Given the description of an element on the screen output the (x, y) to click on. 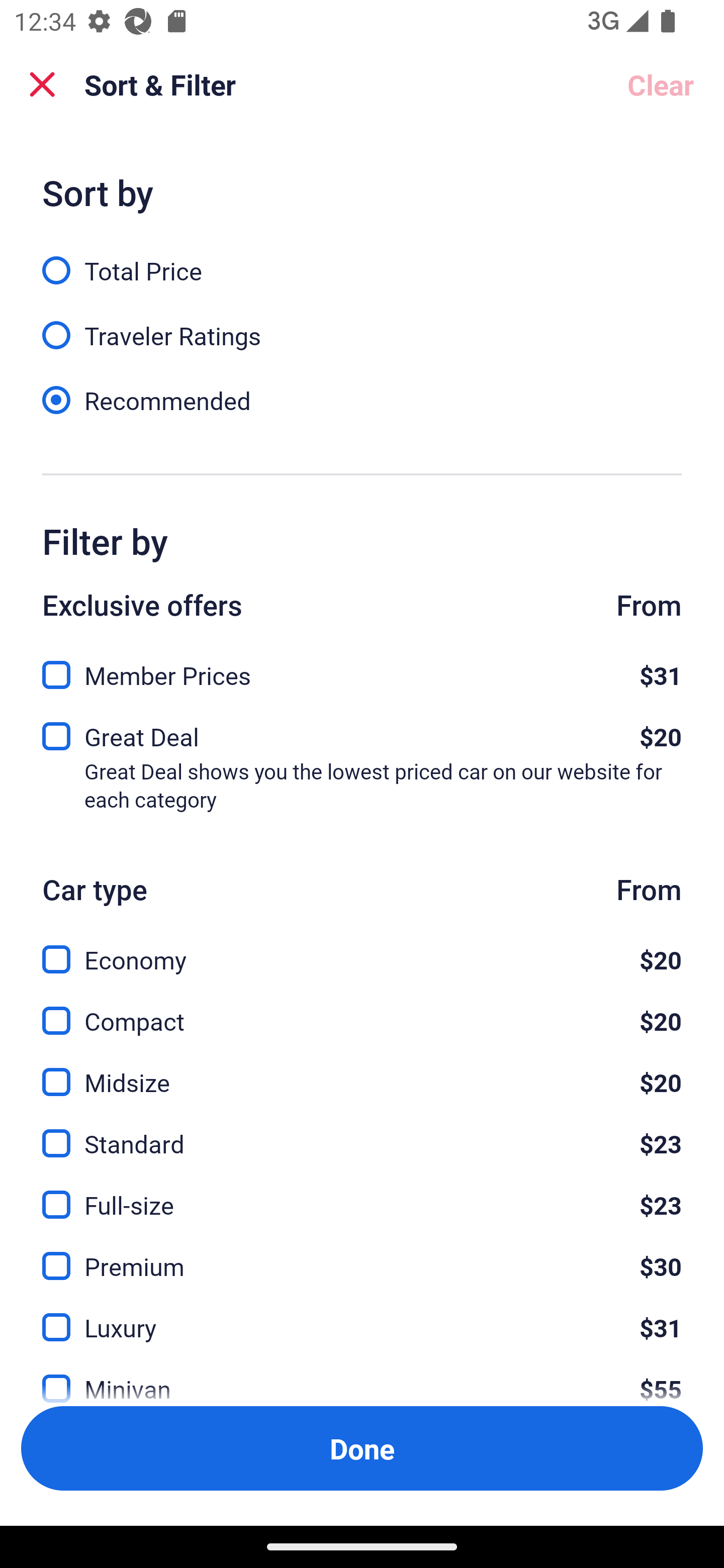
Close Sort and Filter (42, 84)
Clear (660, 84)
Total Price (361, 259)
Traveler Ratings (361, 324)
Member Prices, $31 Member Prices $31 (361, 669)
Economy, $20 Economy $20 (361, 947)
Compact, $20 Compact $20 (361, 1008)
Midsize, $20 Midsize $20 (361, 1070)
Standard, $23 Standard $23 (361, 1132)
Full-size, $23 Full-size $23 (361, 1193)
Premium, $30 Premium $30 (361, 1254)
Luxury, $31 Luxury $31 (361, 1315)
Minivan, $55 Minivan $55 (361, 1376)
Apply and close Sort and Filter Done (361, 1448)
